Given the description of an element on the screen output the (x, y) to click on. 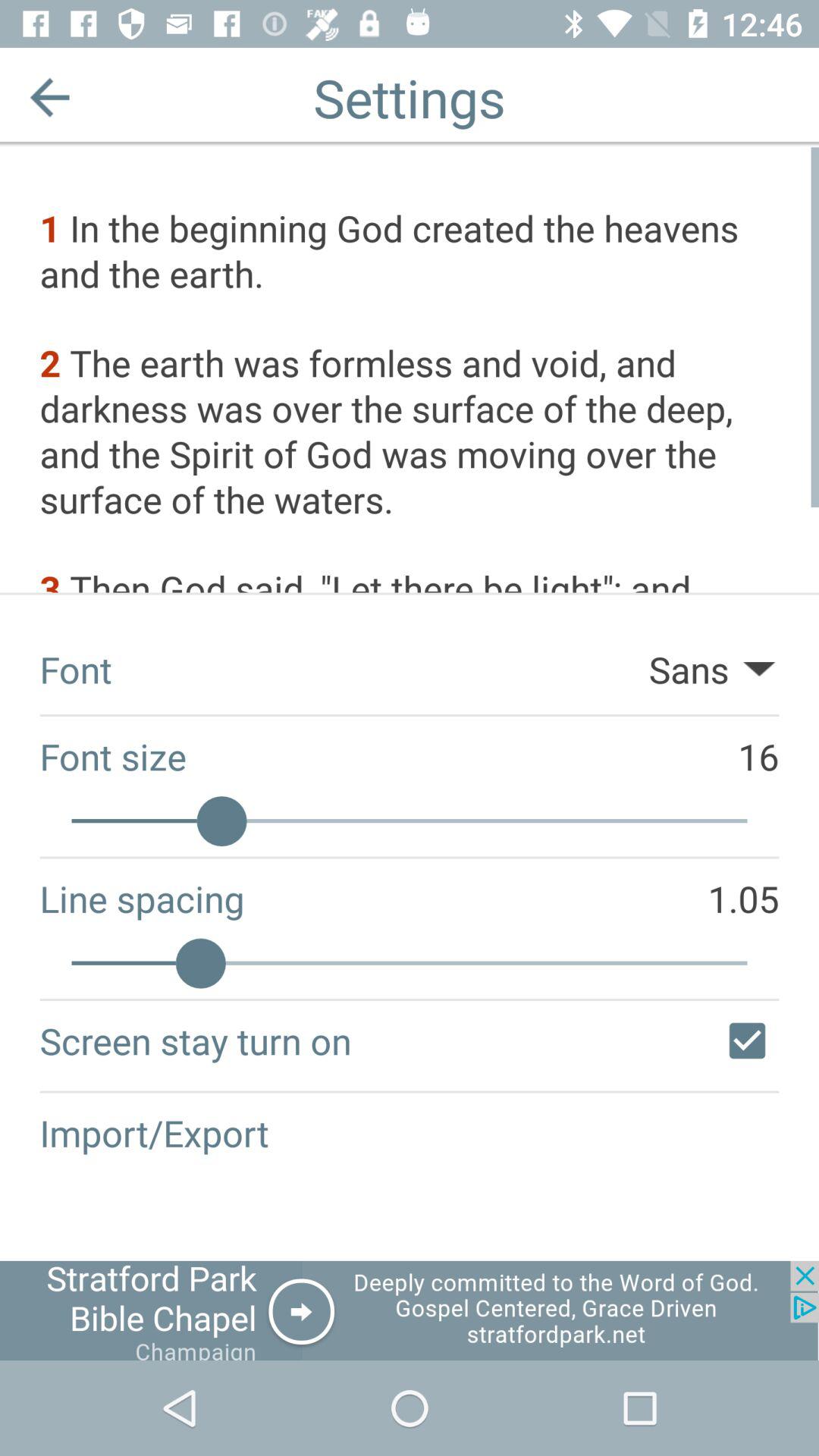
visit the advertisement site (409, 1310)
